Given the description of an element on the screen output the (x, y) to click on. 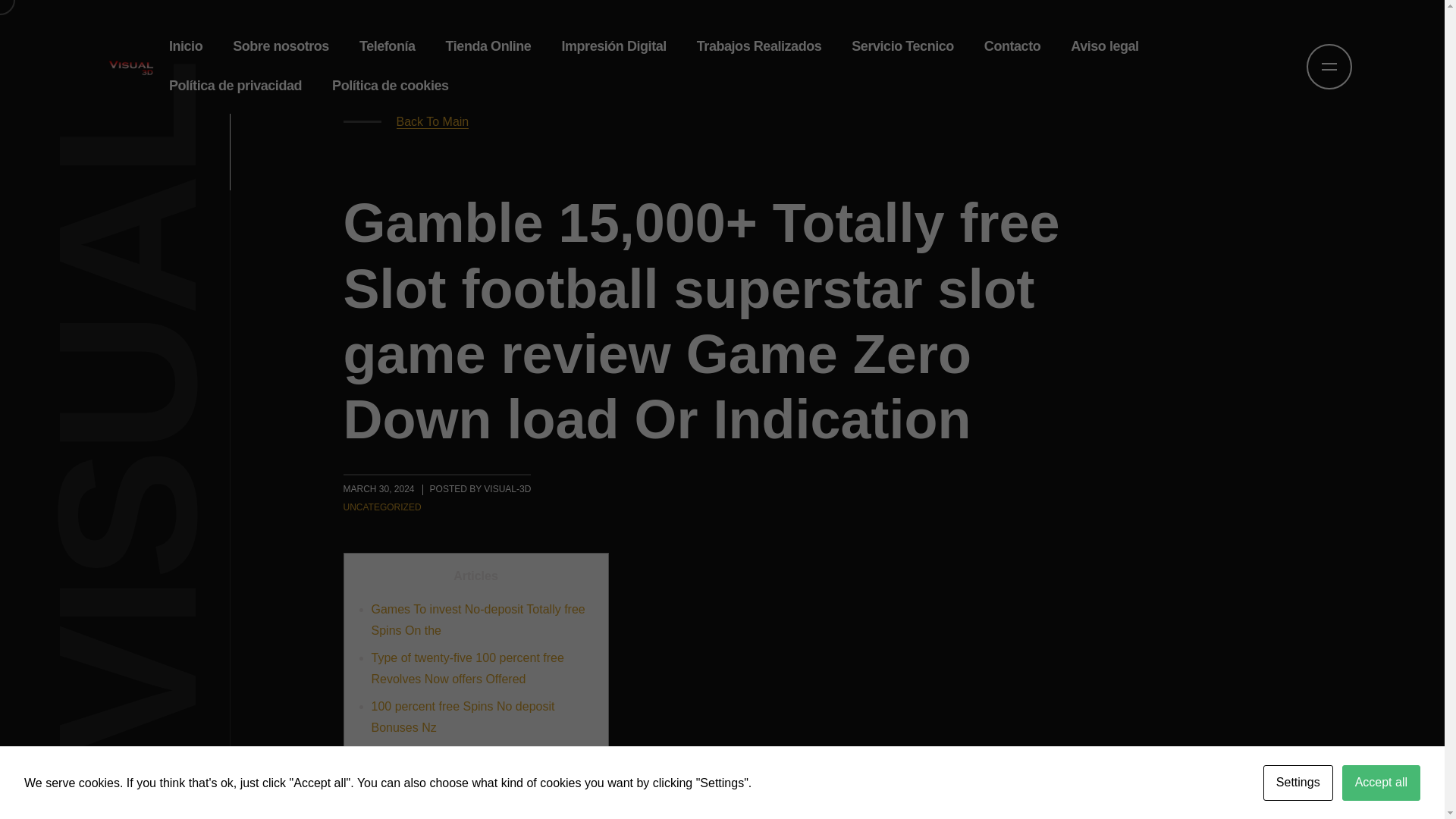
Tienda Online (488, 46)
Trabajos Realizados (759, 46)
Servicio Tecnico (902, 46)
Inicio (185, 46)
Aviso legal (1104, 46)
Sobre nosotros (279, 46)
Contacto (1012, 46)
